Given the description of an element on the screen output the (x, y) to click on. 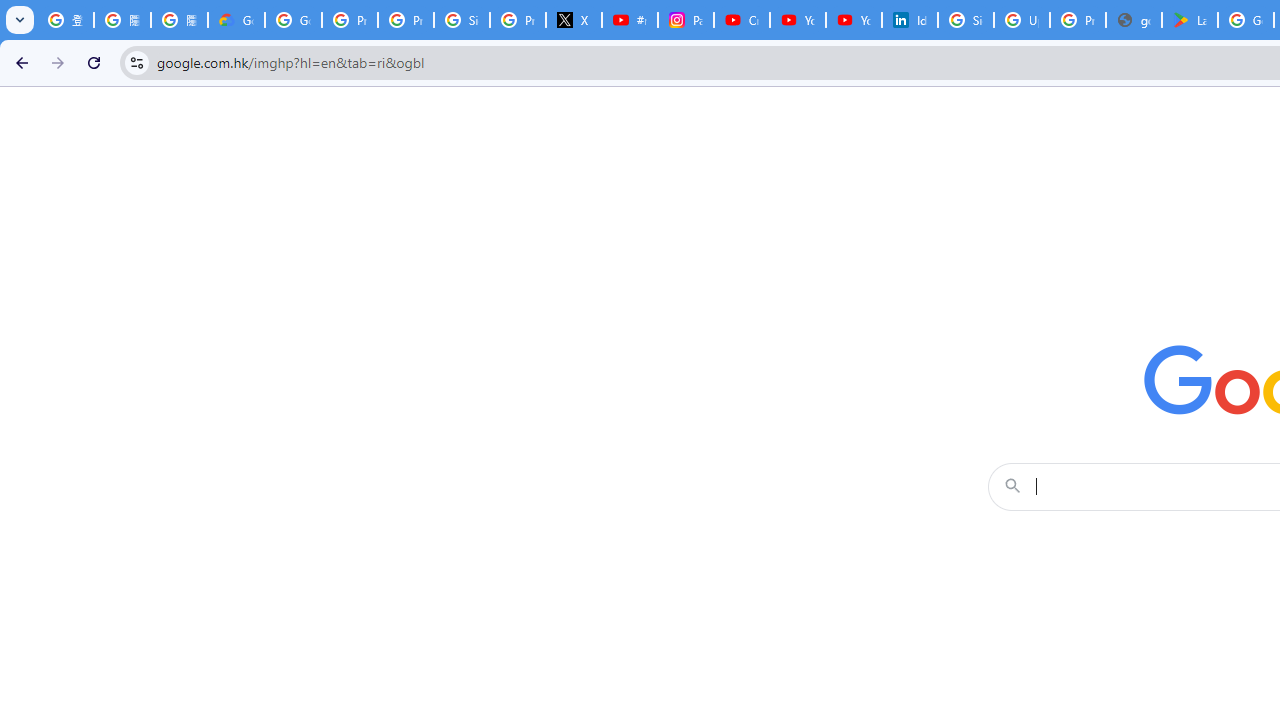
Last Shelter: Survival - Apps on Google Play (1190, 20)
Sign in - Google Accounts (966, 20)
#nbabasketballhighlights - YouTube (629, 20)
YouTube Culture & Trends - YouTube Top 10, 2021 (853, 20)
